Given the description of an element on the screen output the (x, y) to click on. 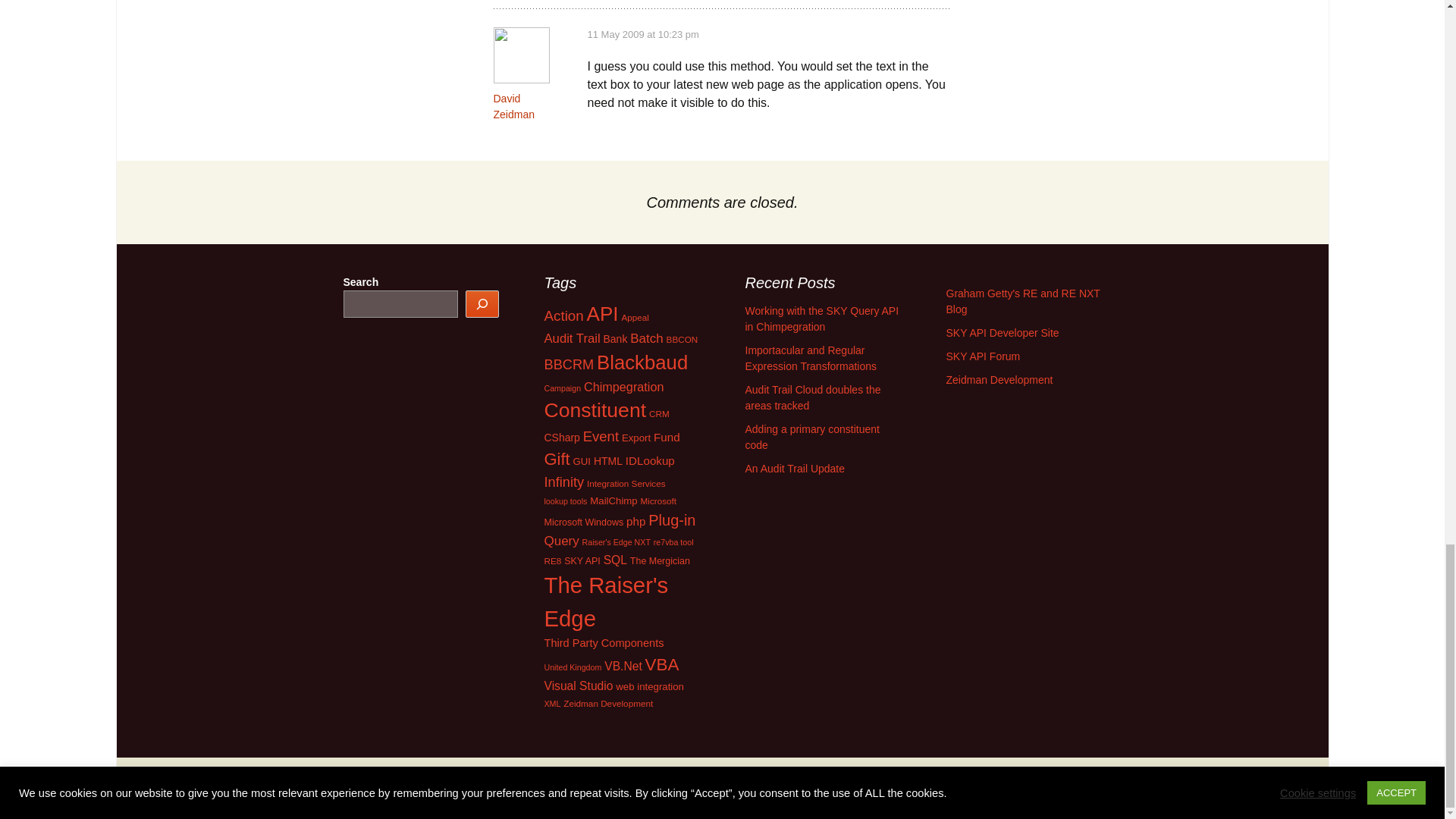
Campaign (562, 388)
Fund (666, 436)
Gift (557, 458)
Event (600, 436)
CSharp (561, 437)
David Zeidman (513, 106)
BBCON (682, 338)
CRM (659, 413)
Constituent (595, 409)
API (602, 313)
